Given the description of an element on the screen output the (x, y) to click on. 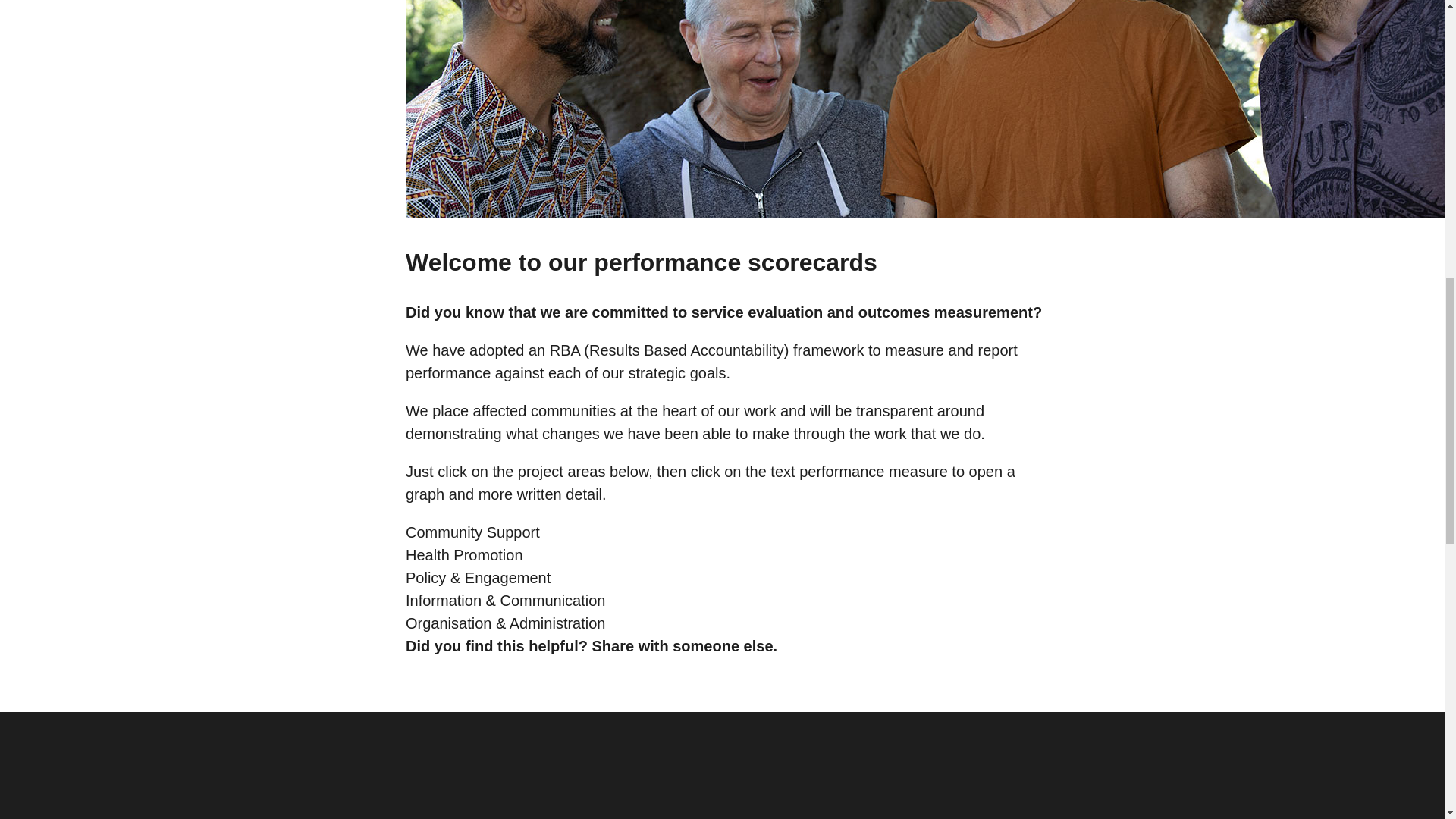
Share on Instagram (727, 684)
Share on Facebook (727, 702)
Share by Email (727, 666)
